Given the description of an element on the screen output the (x, y) to click on. 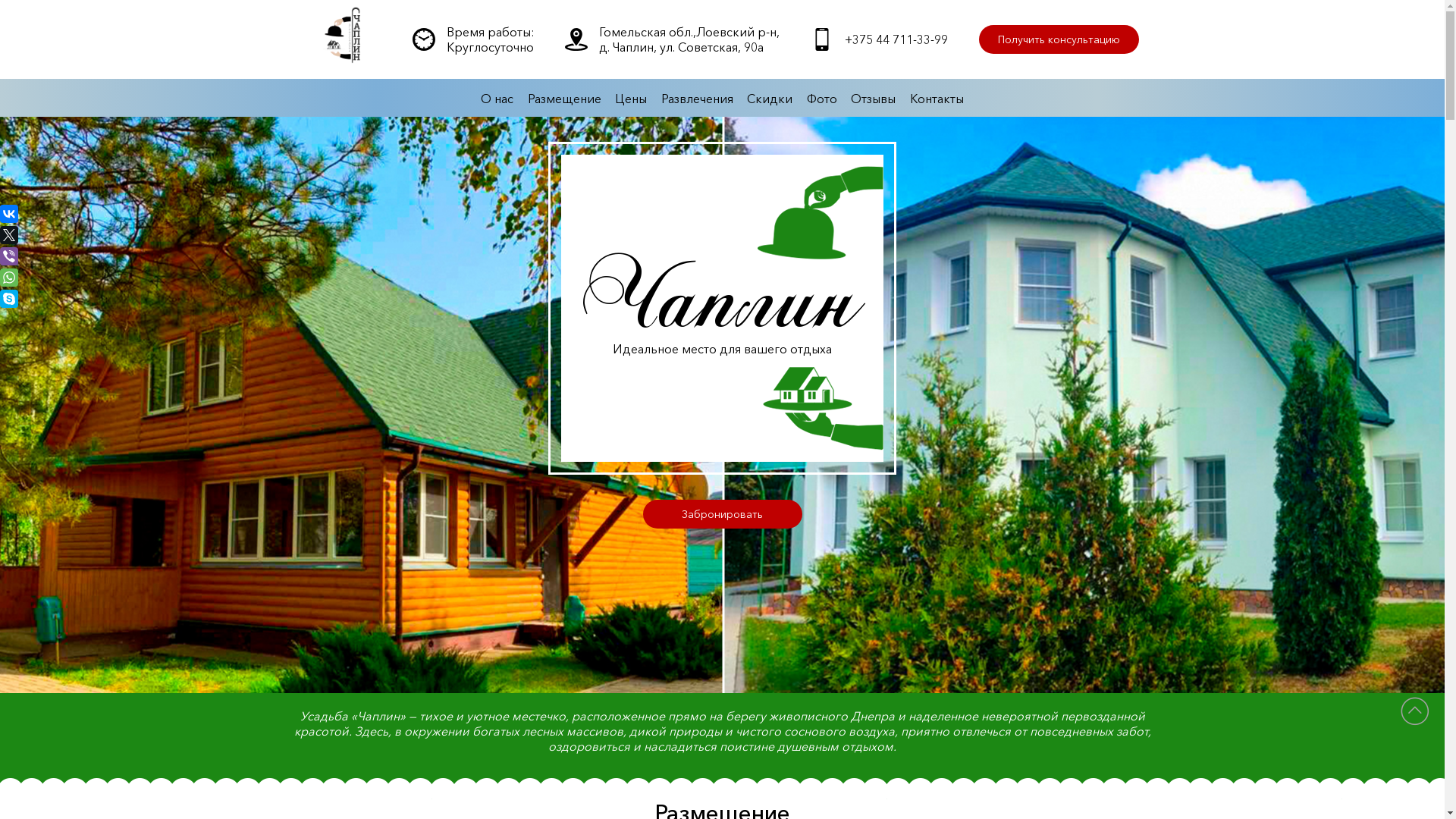
Skype Element type: hover (9, 298)
Twitter Element type: hover (9, 234)
+375 44 711-33-99 Element type: text (895, 39)
Viber Element type: hover (9, 256)
WhatsApp Element type: hover (9, 277)
